Given the description of an element on the screen output the (x, y) to click on. 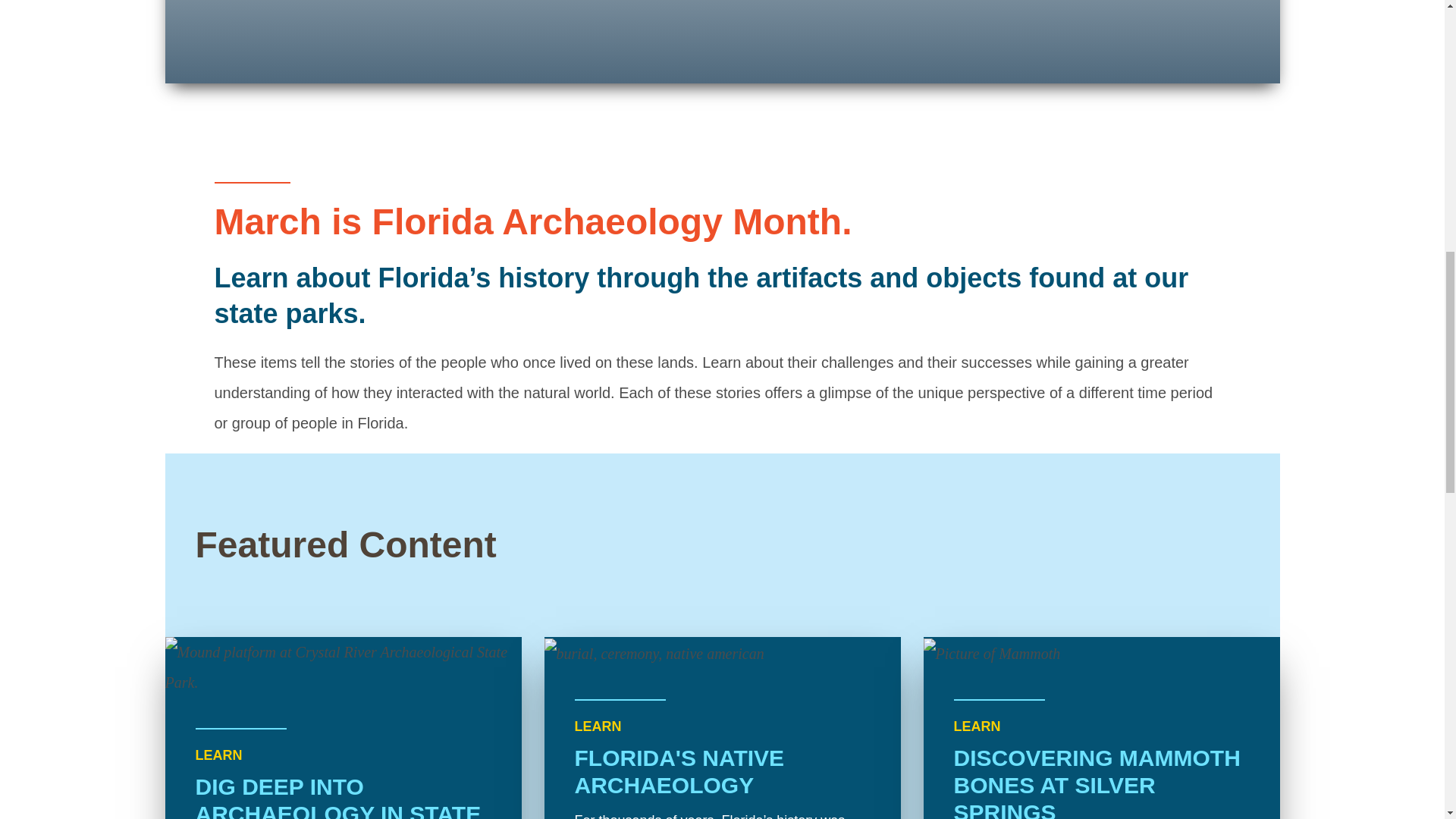
Florida's Native Archaeology (722, 728)
Dig Deep Into Archaeology in State Parks  (343, 728)
Discovering Mammoth Bones at Silver Springs (1101, 728)
